Given the description of an element on the screen output the (x, y) to click on. 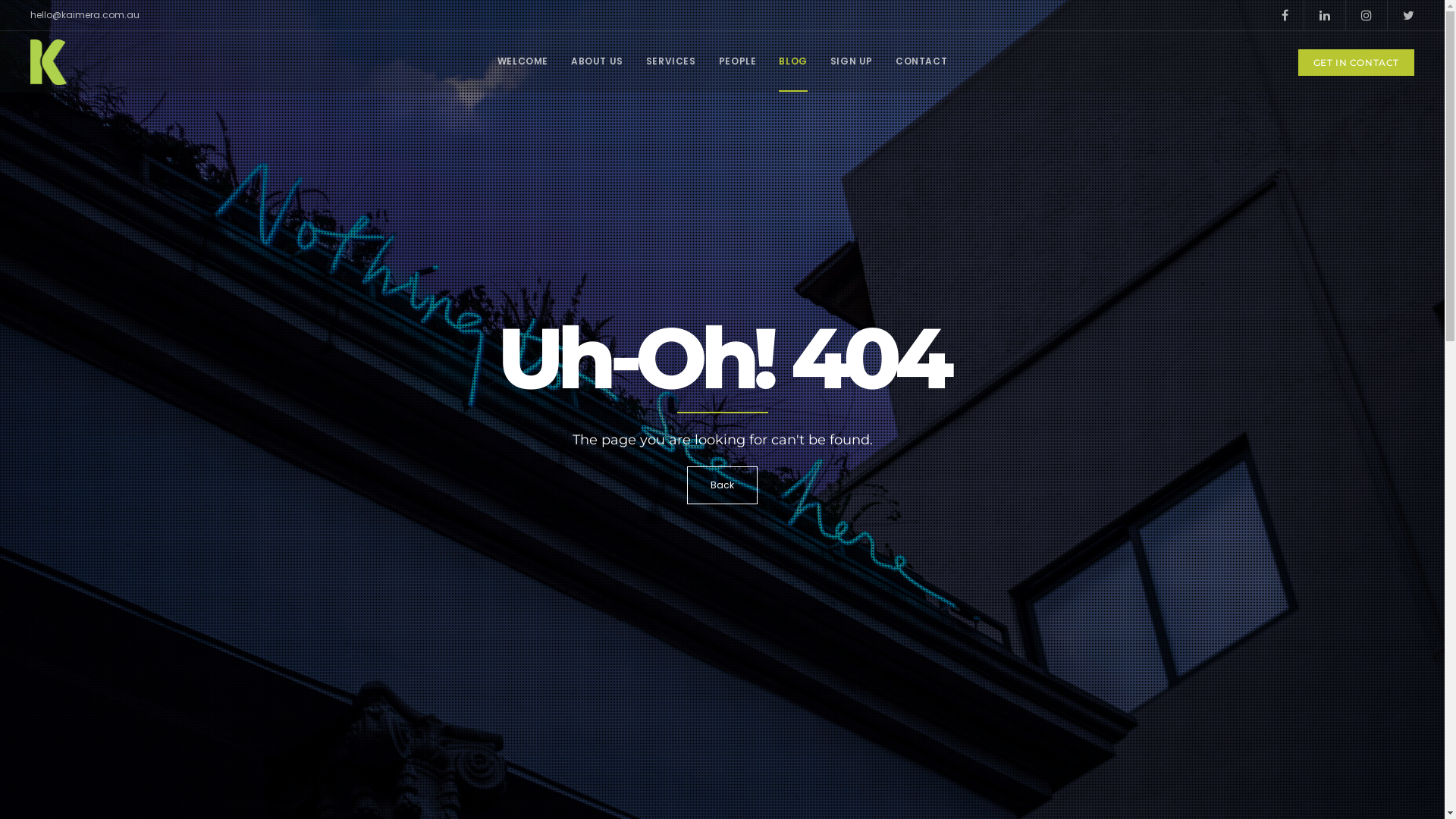
hello@kaimera.com.au Element type: text (84, 15)
ABOUT US Element type: text (597, 61)
PEOPLE Element type: text (737, 61)
CONTACT Element type: text (921, 61)
Back Element type: text (722, 484)
SIGN UP Element type: text (851, 61)
BLOG Element type: text (792, 61)
SERVICES Element type: text (671, 61)
WELCOME Element type: text (522, 61)
GET IN CONTACT Element type: text (1356, 62)
